Given the description of an element on the screen output the (x, y) to click on. 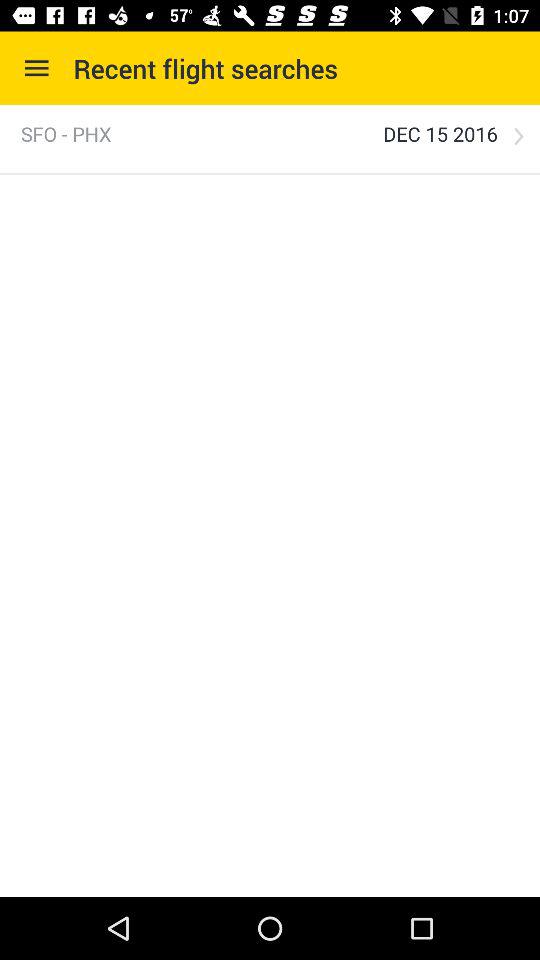
open icon to the left of recent flight searches icon (36, 68)
